Given the description of an element on the screen output the (x, y) to click on. 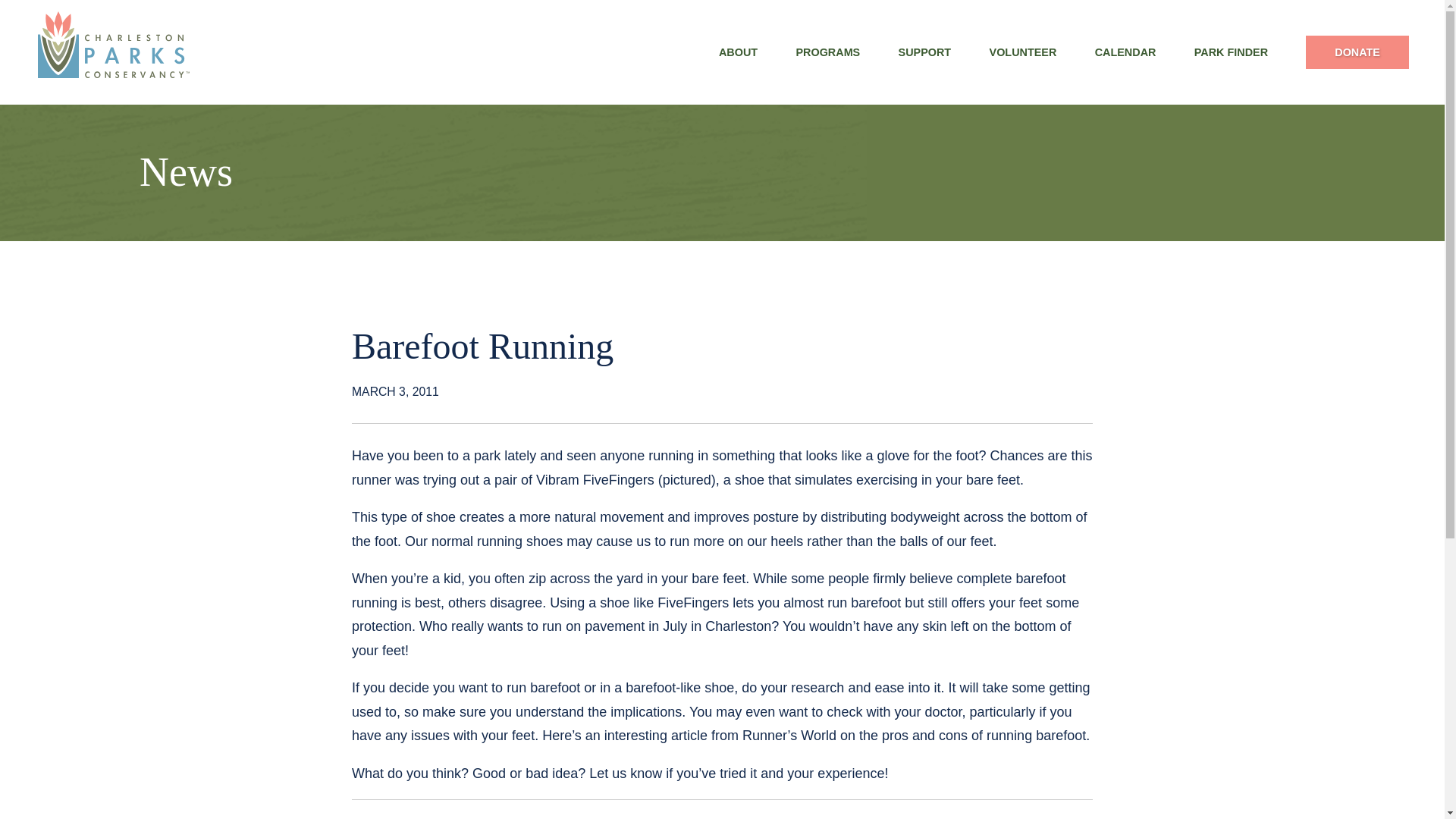
VOLUNTEER (1022, 52)
ABOUT (738, 52)
CALENDAR (1124, 52)
PARK FINDER (1230, 52)
DONATE (1356, 52)
SUPPORT (924, 52)
PROGRAMS (827, 52)
